Given the description of an element on the screen output the (x, y) to click on. 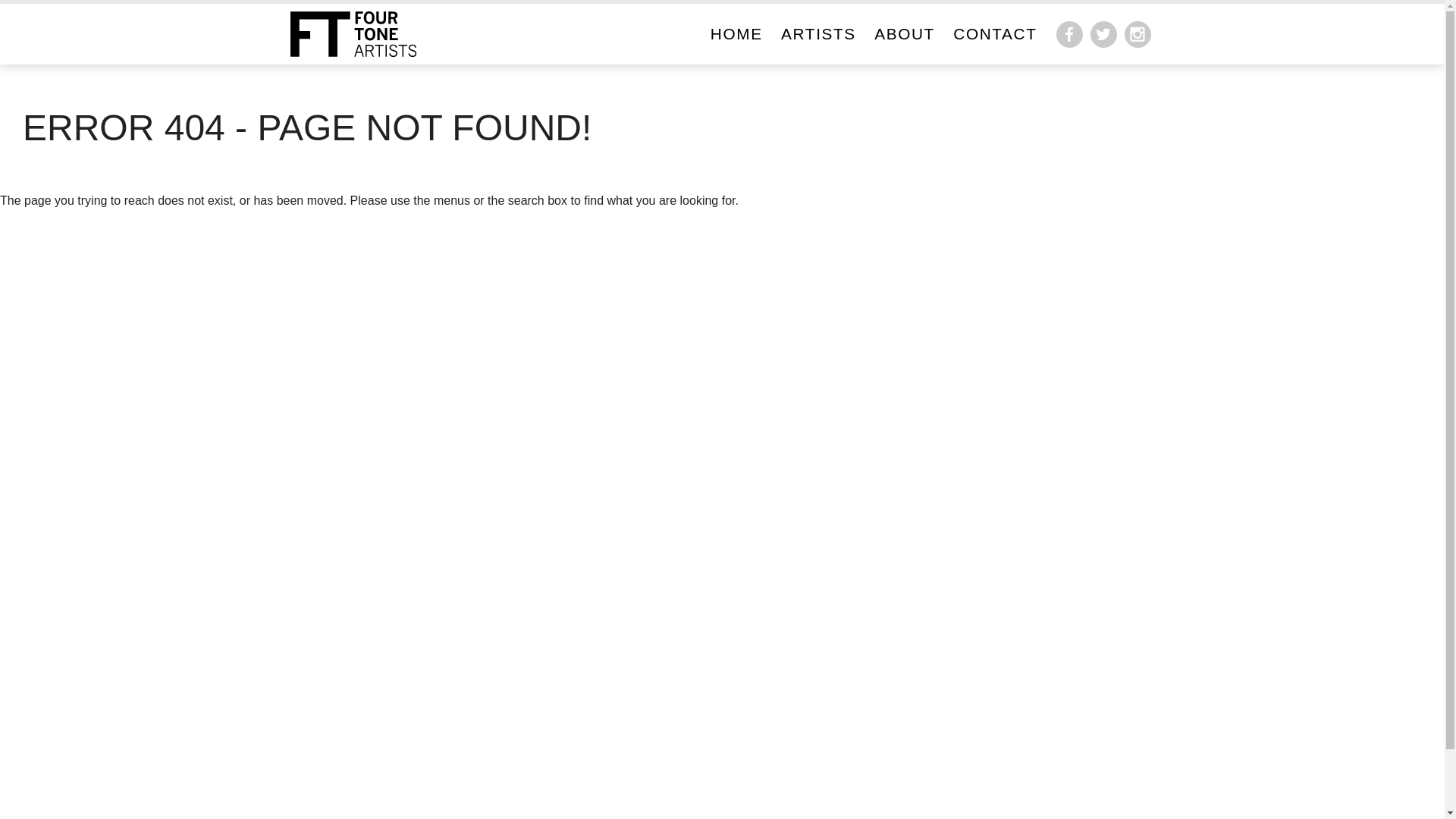
ABOUT Element type: text (904, 33)
Click to visit: Instagram Element type: hover (1136, 34)
HOME Element type: text (736, 33)
Click to visit: Twitter Element type: hover (1103, 34)
Click to visit: Facebook Element type: hover (1068, 34)
ARTISTS Element type: text (818, 33)
CONTACT Element type: text (994, 33)
